Given the description of an element on the screen output the (x, y) to click on. 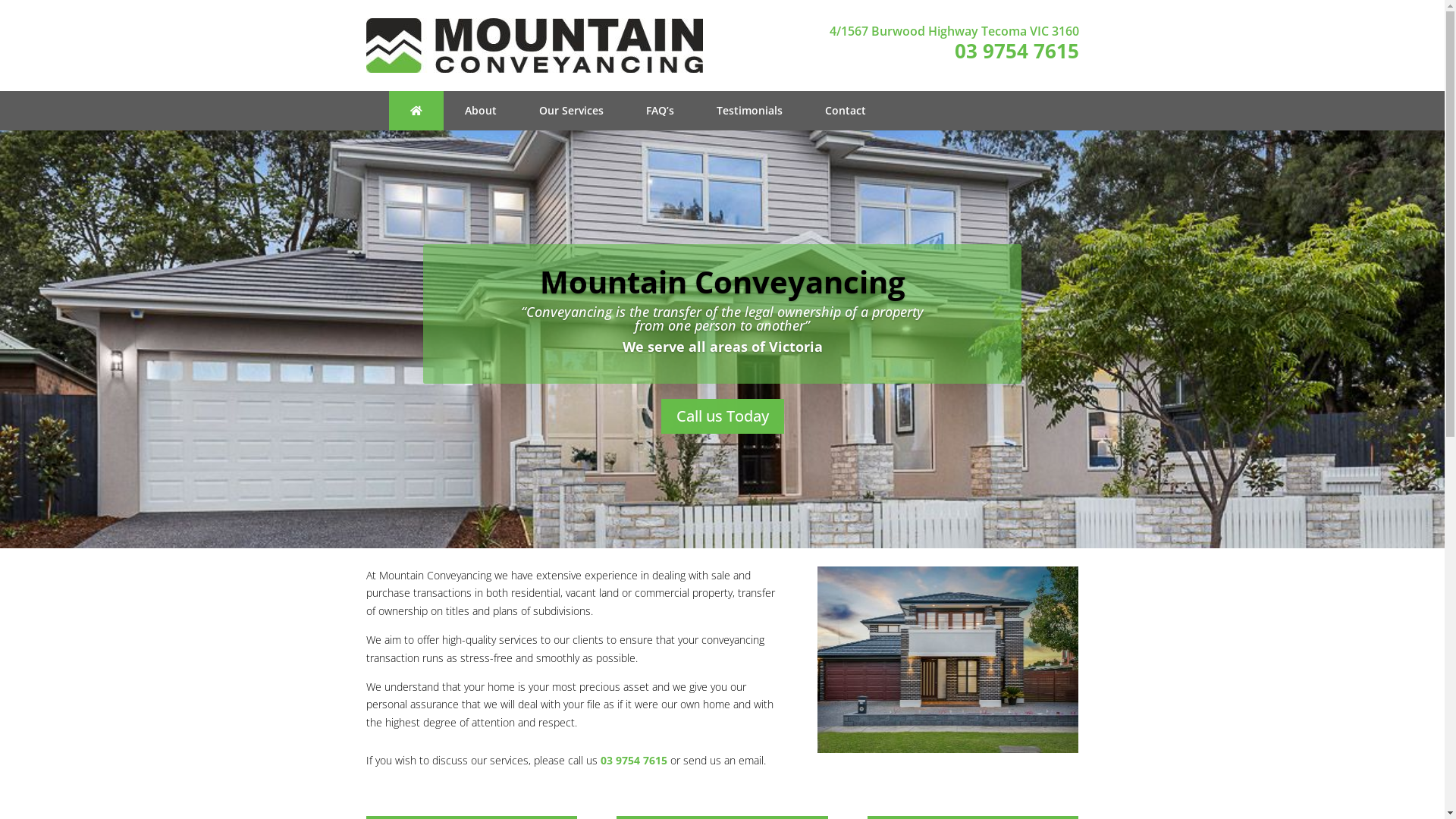
Testimonials Element type: text (748, 110)
4/1567 Burwood Highway Tecoma VIC 3160 Element type: text (954, 30)
2021-13-05-logo-landscape Element type: hover (533, 45)
About Element type: text (479, 110)
Call us Today Element type: text (722, 415)
03 9754 7615 Element type: text (635, 760)
Contact Element type: text (845, 110)
03 9754 7615 Element type: text (1015, 50)
Mountain Conveyancing Element type: text (722, 281)
Our Services Element type: text (570, 110)
Mountain-Conveyancing-Tecoma-in-Vic-7 Element type: hover (948, 659)
